Given the description of an element on the screen output the (x, y) to click on. 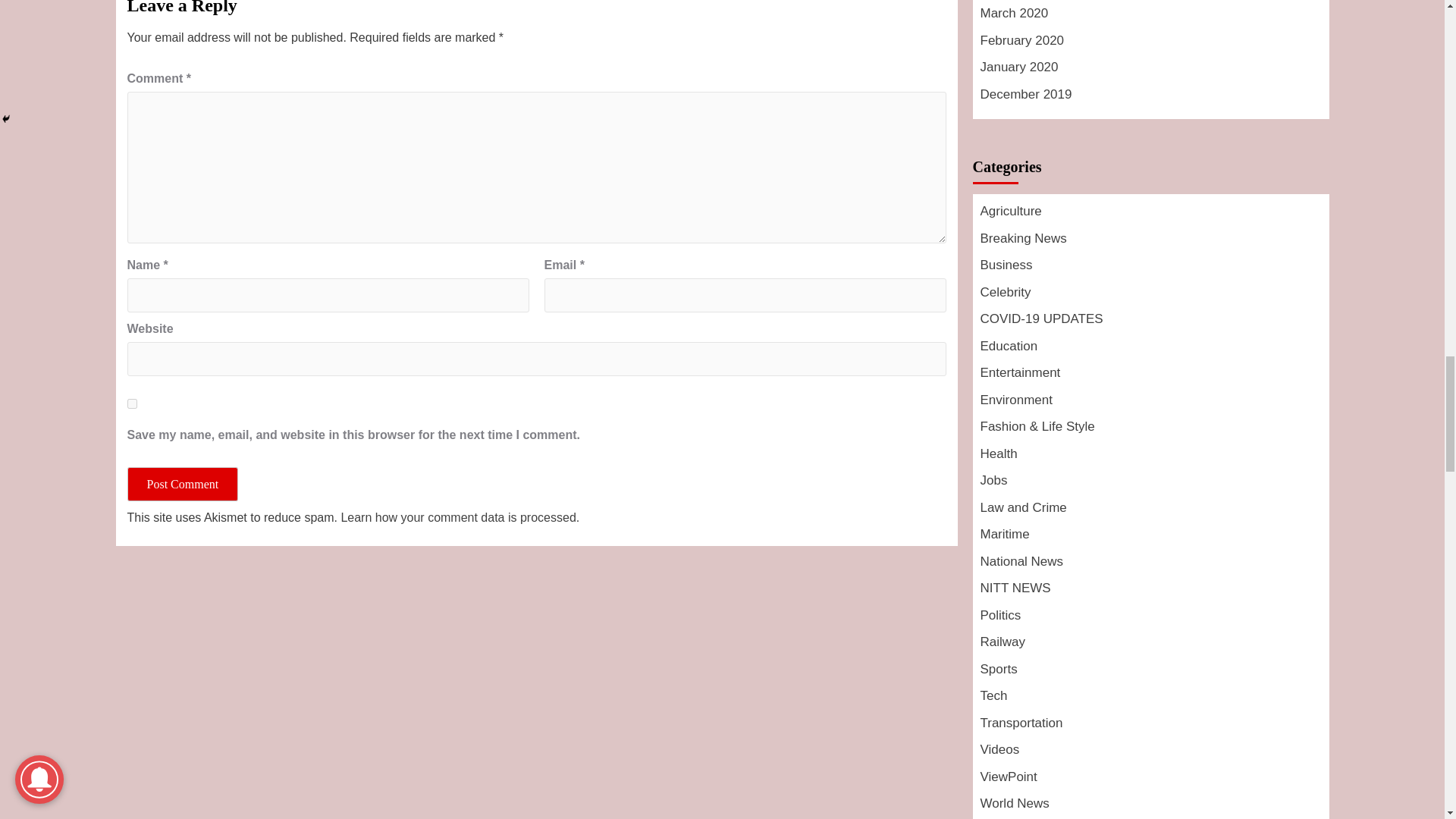
Post Comment (183, 483)
